Given the description of an element on the screen output the (x, y) to click on. 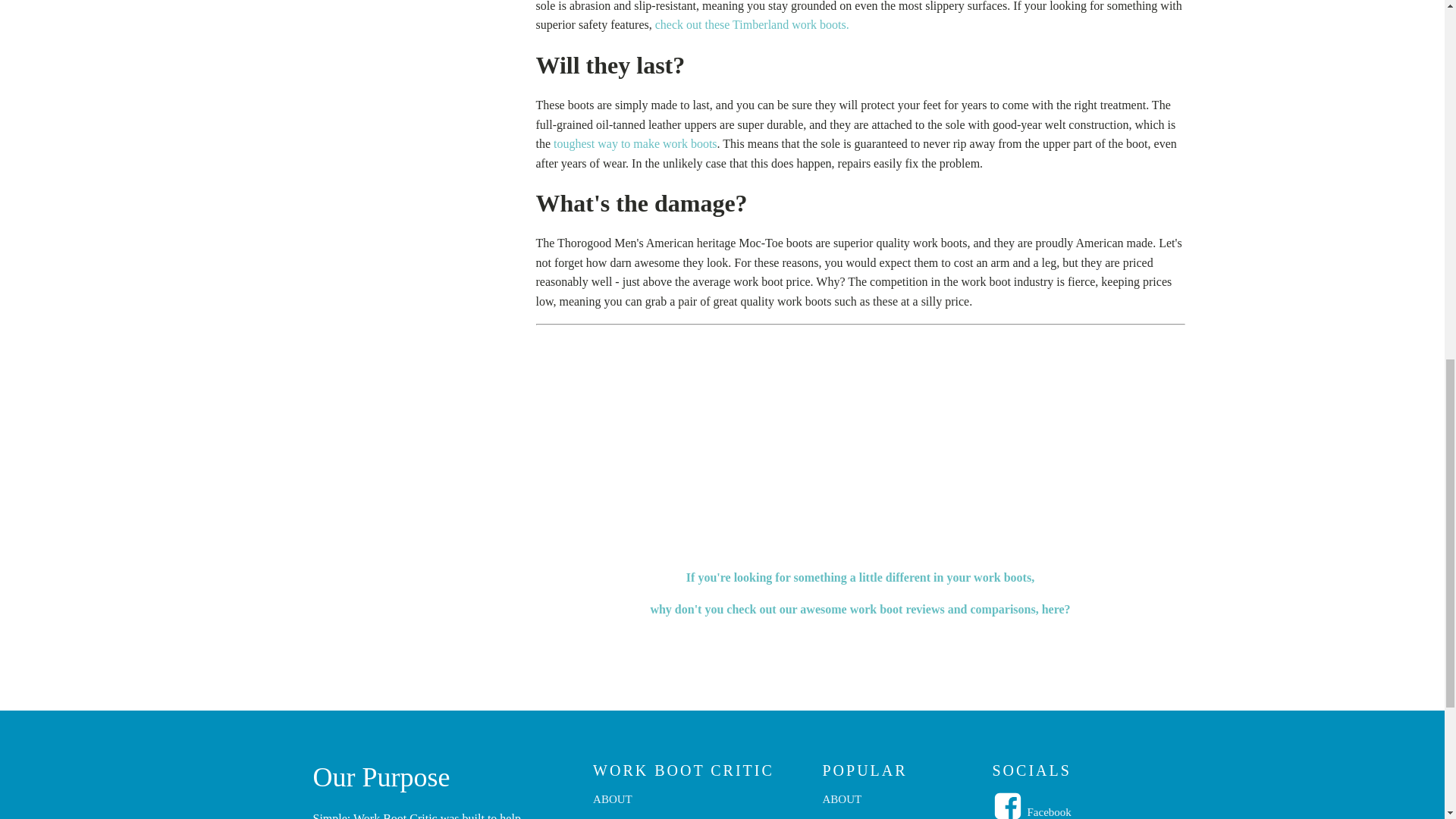
toughest way to make work boots (635, 143)
check out these Timberland work boots. (751, 24)
Facebook (1048, 811)
ABOUT (638, 804)
Review of the Timberland Pro Pitboss (751, 24)
ABOUT (868, 804)
